Given the description of an element on the screen output the (x, y) to click on. 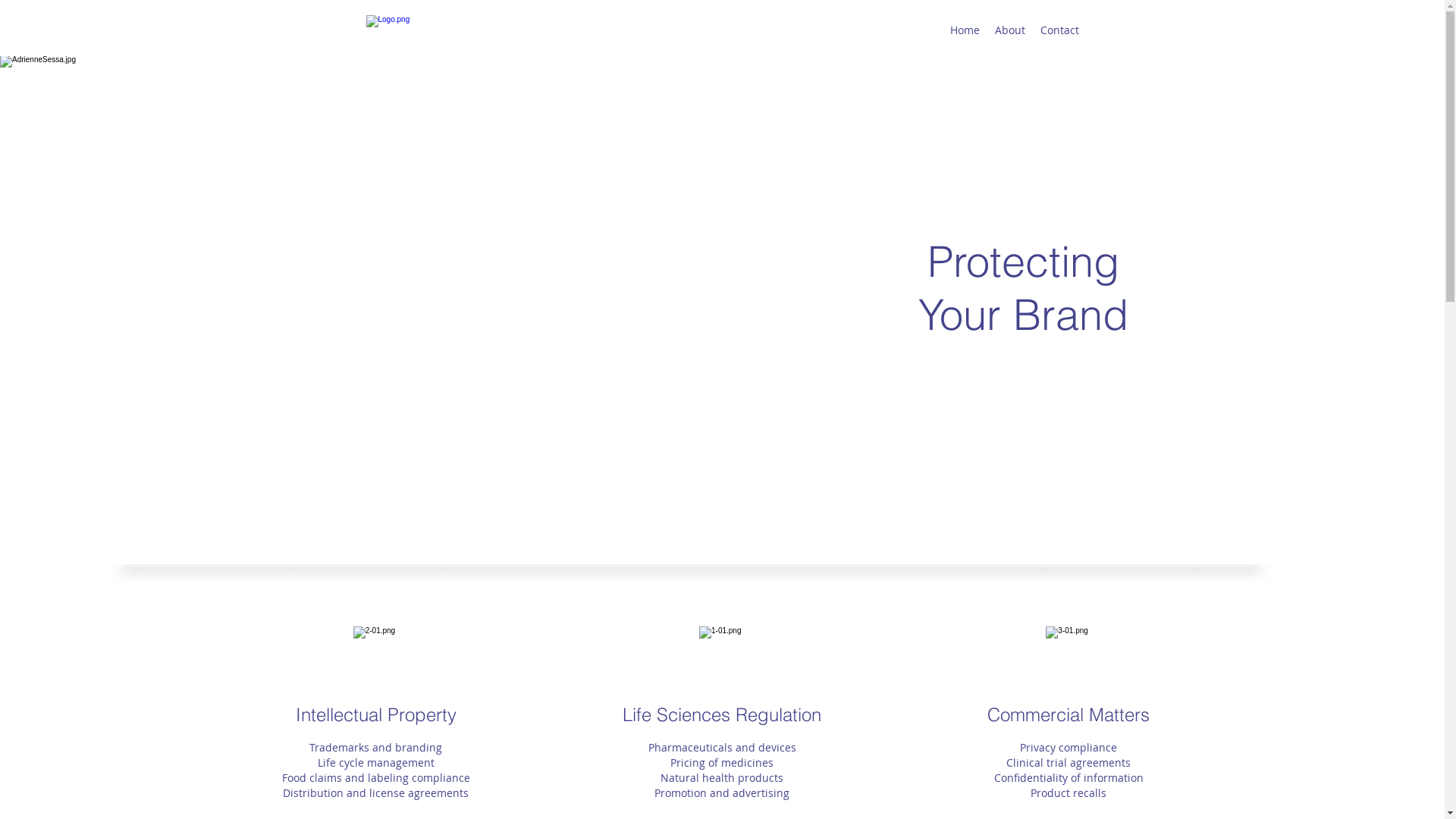
Home Element type: text (963, 29)
About Element type: text (1009, 29)
Contact Element type: text (1059, 29)
